Given the description of an element on the screen output the (x, y) to click on. 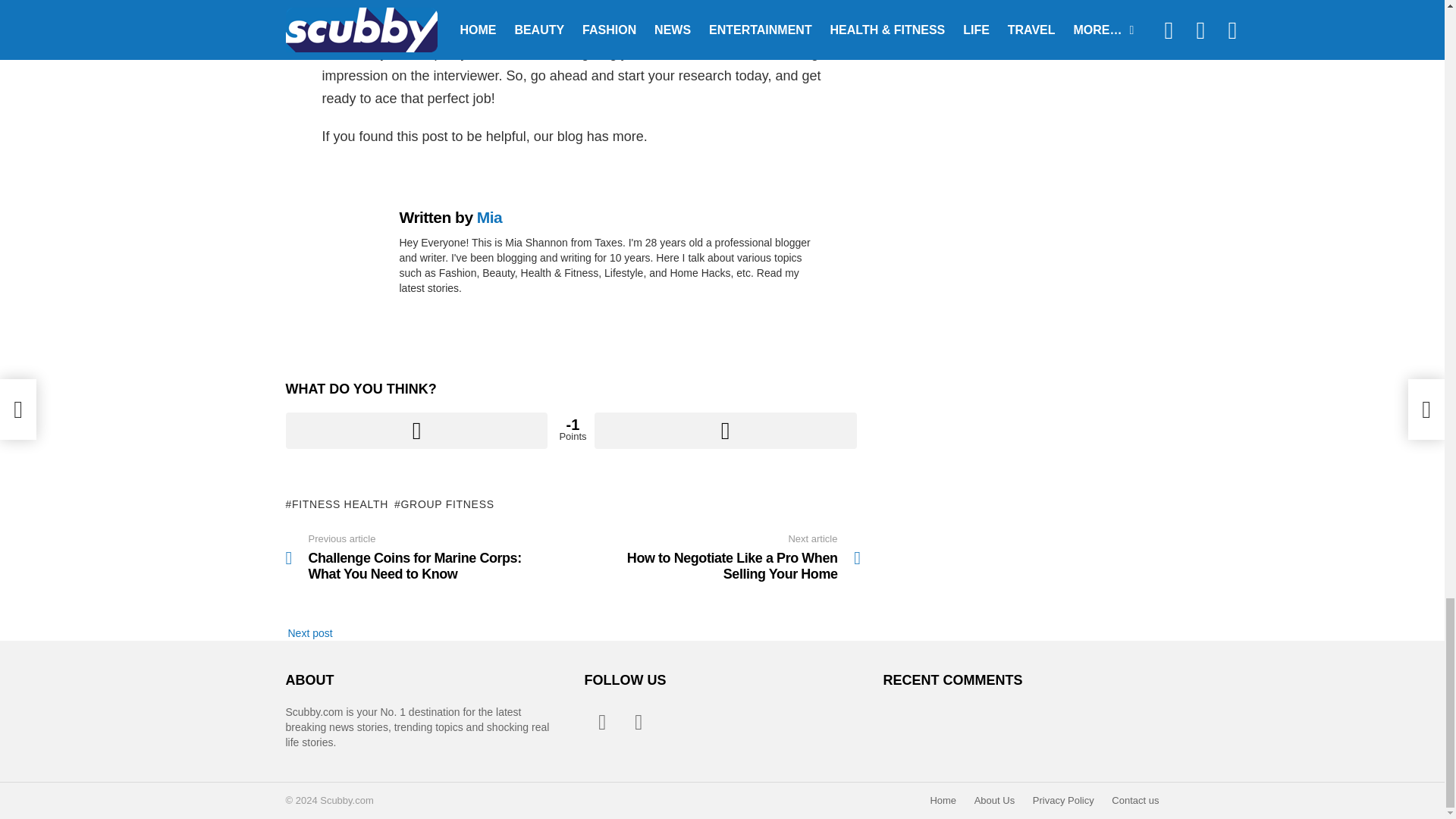
GROUP FITNESS (444, 503)
FITNESS HEALTH (336, 503)
Upvote (416, 430)
Downvote (725, 430)
group fitness (568, 7)
Mia (489, 217)
Upvote (416, 430)
Downvote (725, 430)
